Given the description of an element on the screen output the (x, y) to click on. 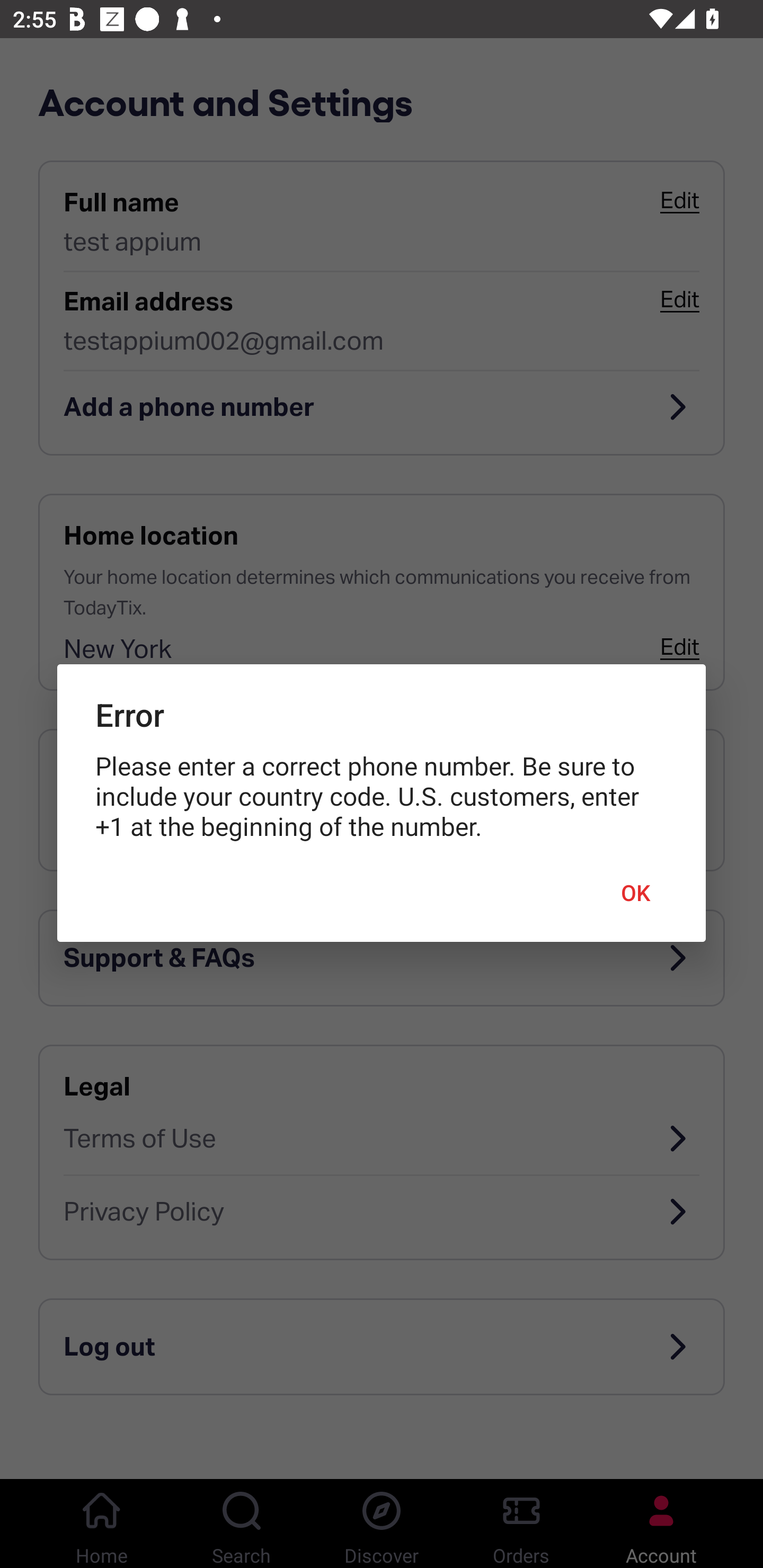
OK (635, 892)
